Given the description of an element on the screen output the (x, y) to click on. 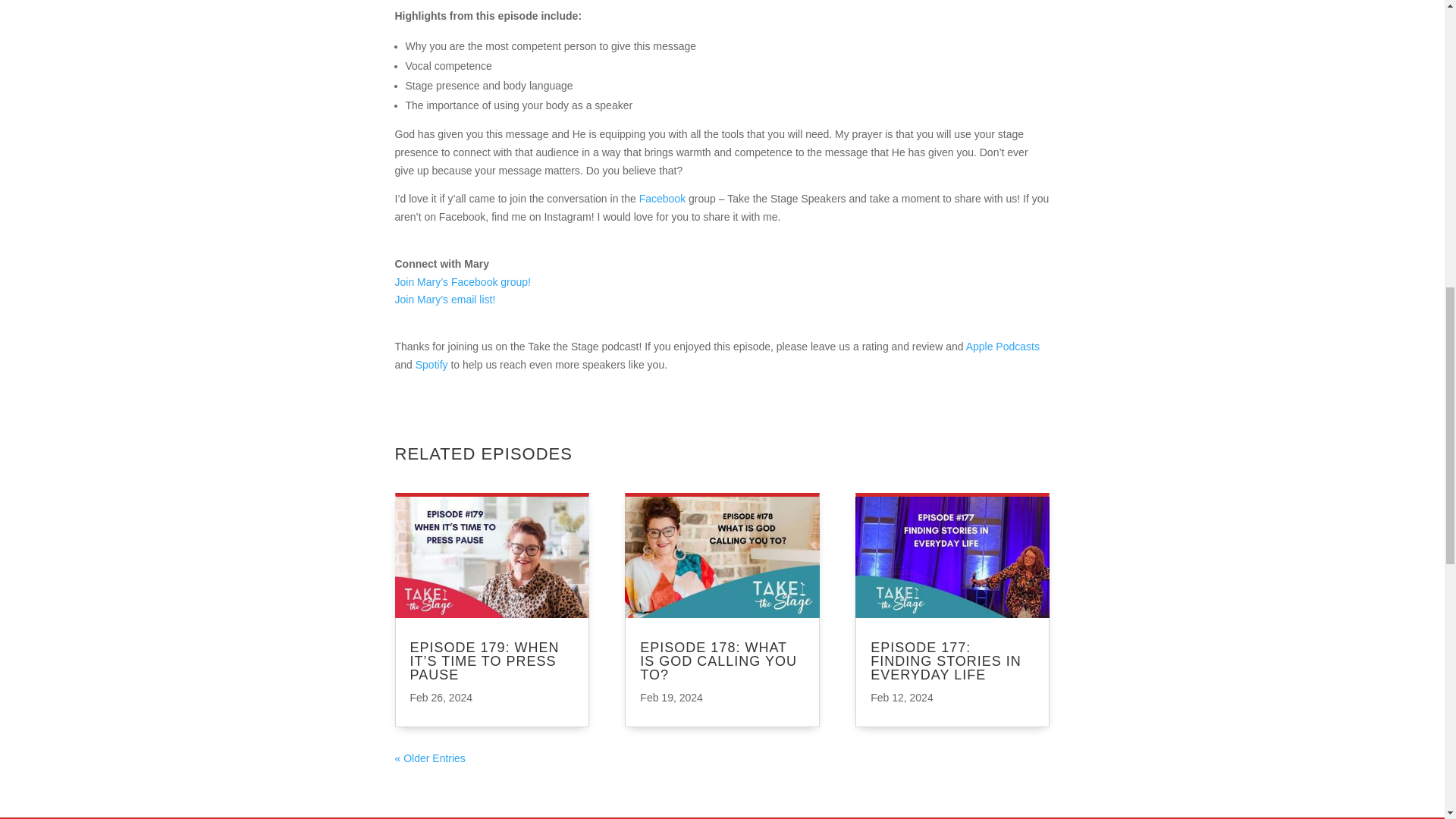
EPISODE 178: WHAT IS GOD CALLING YOU TO? (718, 660)
Facebook (662, 198)
EPISODE 177: FINDING STORIES IN EVERYDAY LIFE (946, 660)
Spotify (431, 364)
Apple Podcasts (1002, 346)
